Given the description of an element on the screen output the (x, y) to click on. 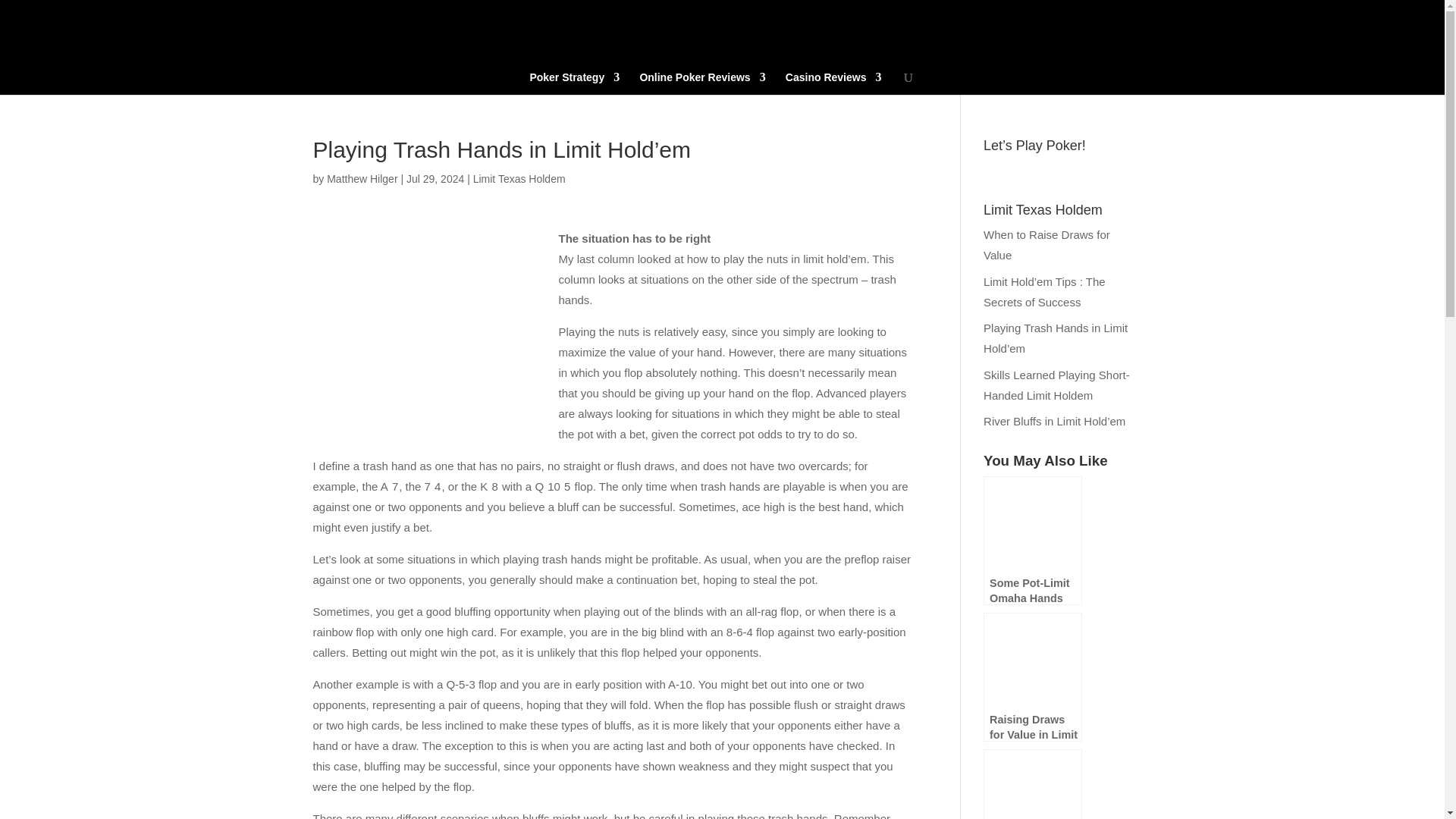
Online Poker Reviews (702, 83)
Limit Texas Holdem (519, 178)
Matthew Hilger (361, 178)
Casino Reviews (834, 83)
Poker Strategy (574, 83)
Posts by Matthew Hilger (361, 178)
When to Raise Draws for Value (1046, 244)
